Given the description of an element on the screen output the (x, y) to click on. 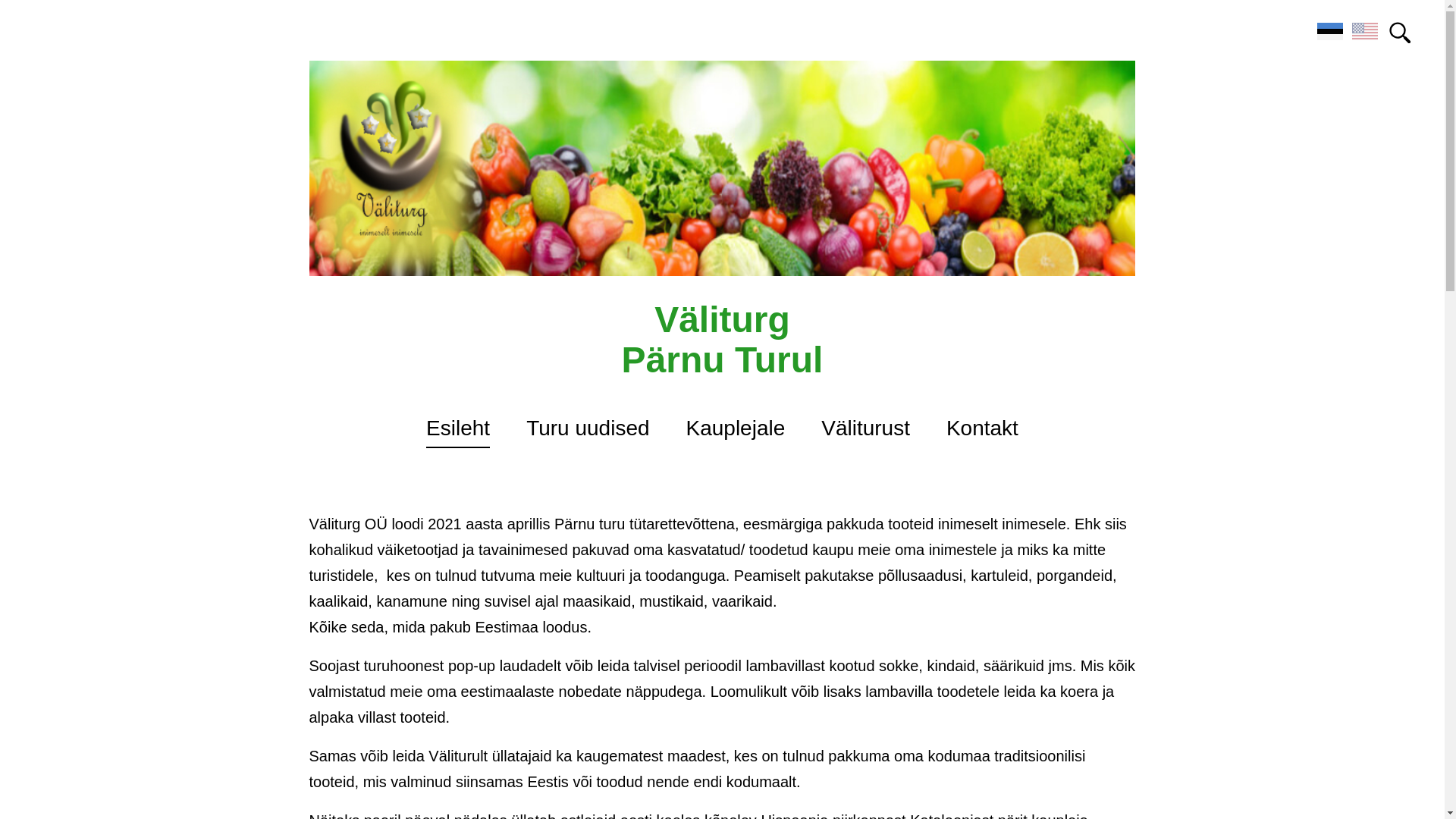
Kauplejale (734, 431)
Kontakt (981, 431)
Turu uudised (587, 431)
Esileht (457, 431)
